Given the description of an element on the screen output the (x, y) to click on. 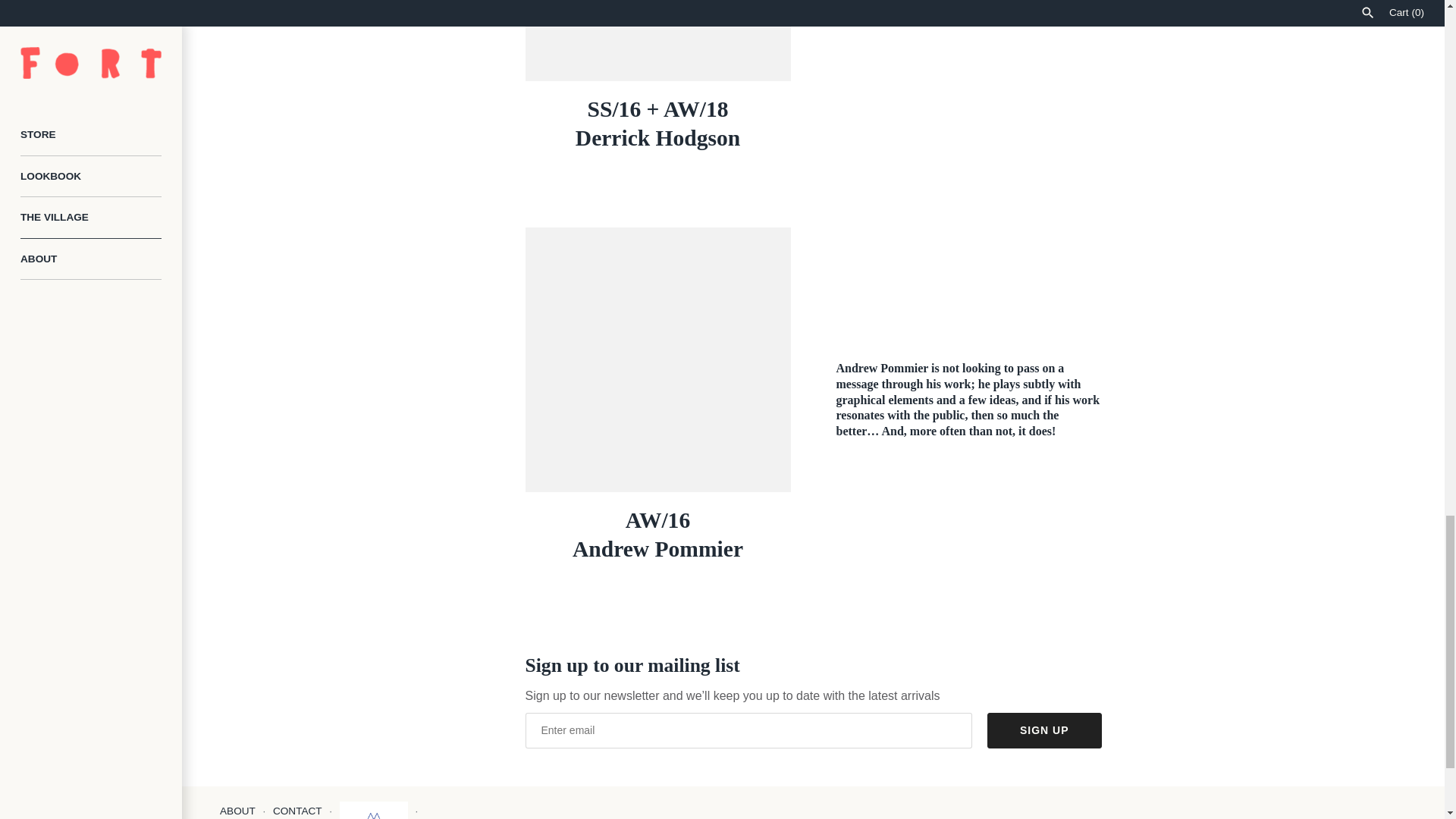
ABOUT (237, 810)
CONTACT (297, 810)
SIGN UP (1044, 730)
